Given the description of an element on the screen output the (x, y) to click on. 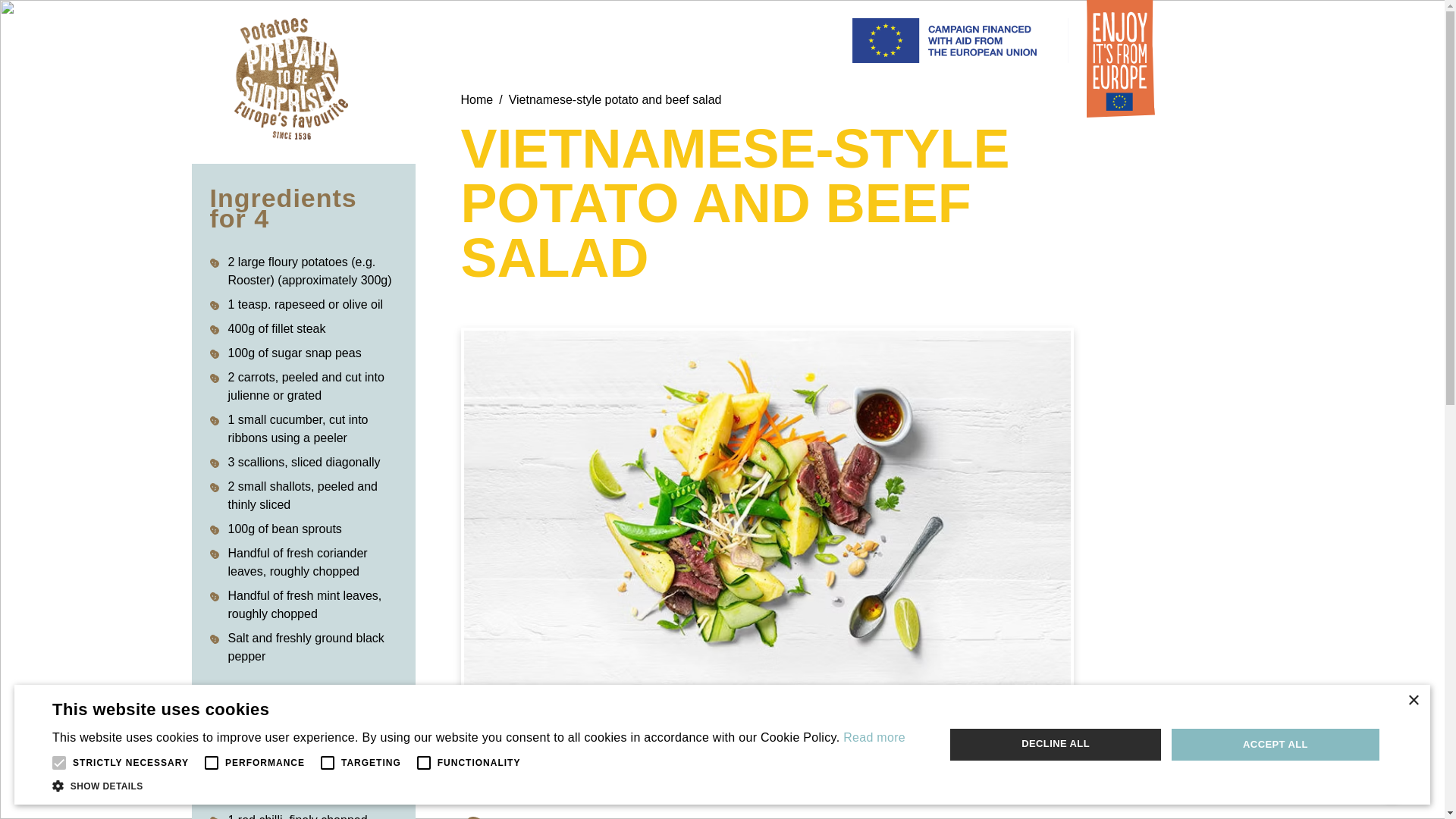
SURPRISE ME! (1323, 709)
Vietnamese-style potato and beef salad (615, 99)
